Given the description of an element on the screen output the (x, y) to click on. 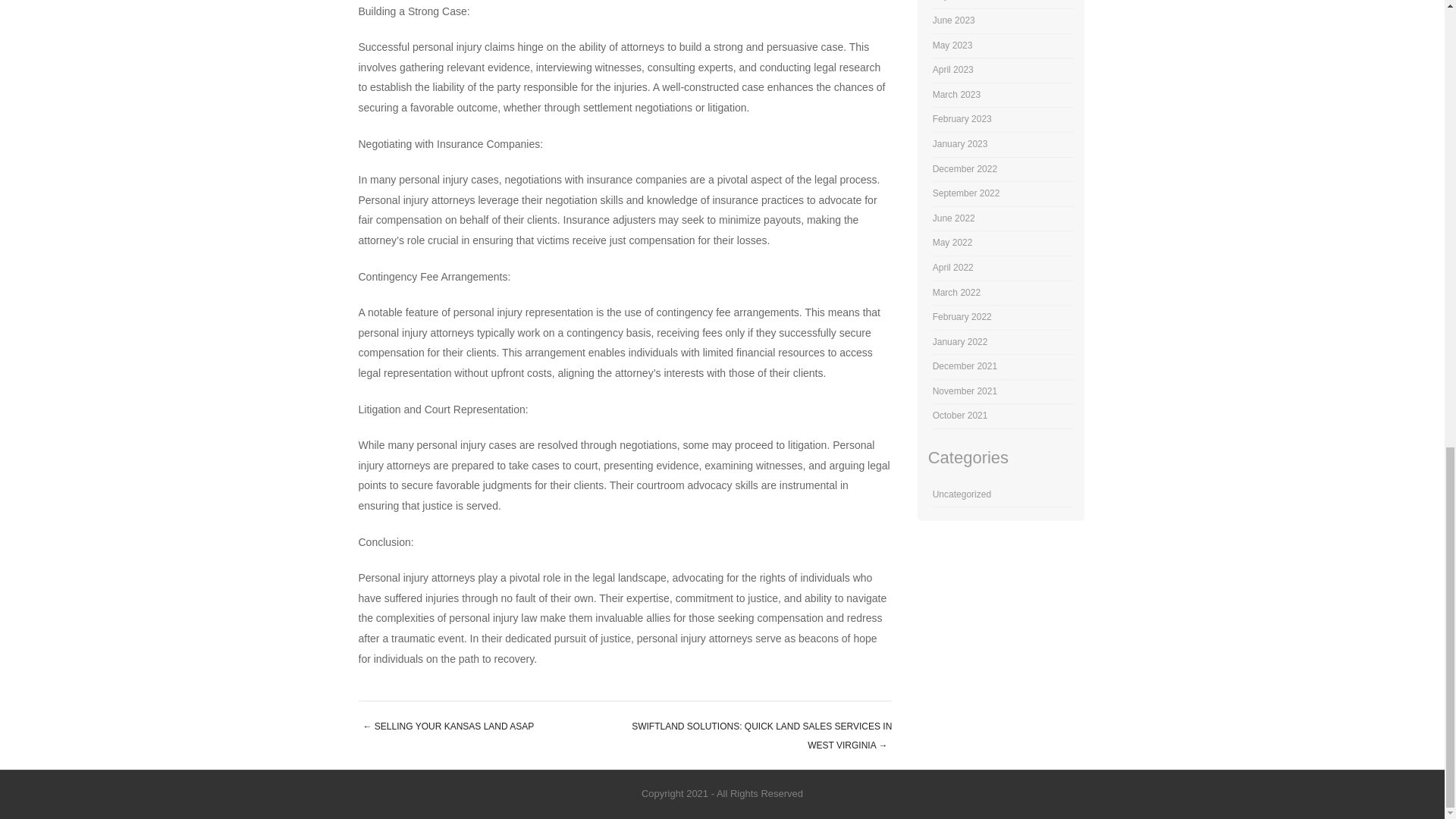
September 2022 (966, 193)
January 2023 (960, 143)
December 2022 (965, 168)
February 2023 (962, 118)
May 2022 (952, 242)
April 2023 (953, 69)
June 2023 (954, 20)
March 2023 (956, 94)
June 2022 (954, 217)
